Given the description of an element on the screen output the (x, y) to click on. 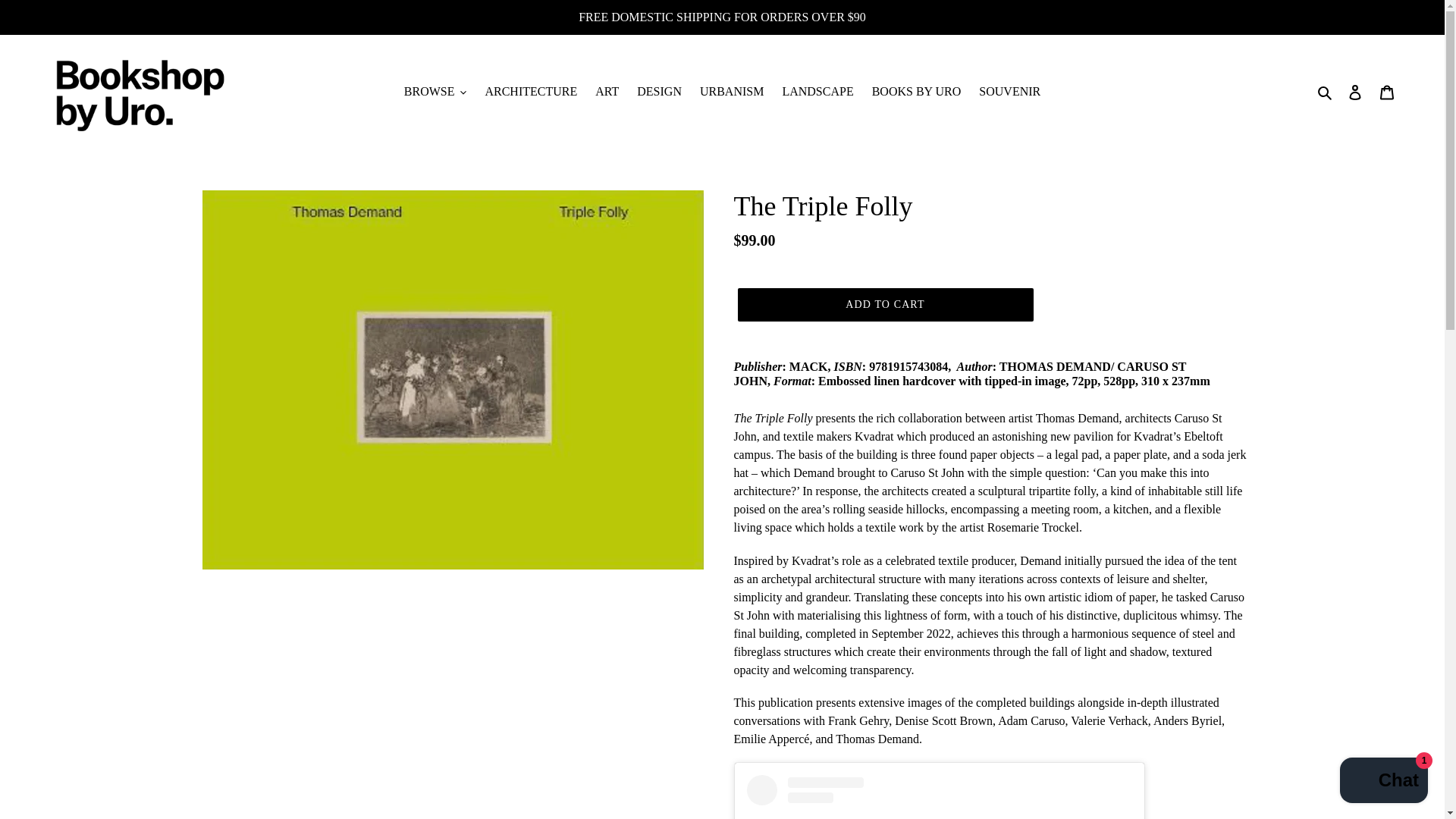
Cart (1387, 90)
Shopify online store chat (1383, 781)
LANDSCAPE (817, 91)
ART (607, 91)
DESIGN (658, 91)
SOUVENIR (1009, 91)
Search (1326, 91)
ARCHITECTURE (531, 91)
Log in (1355, 90)
BOOKS BY URO (916, 91)
URBANISM (732, 91)
BROWSE (435, 91)
